Given the description of an element on the screen output the (x, y) to click on. 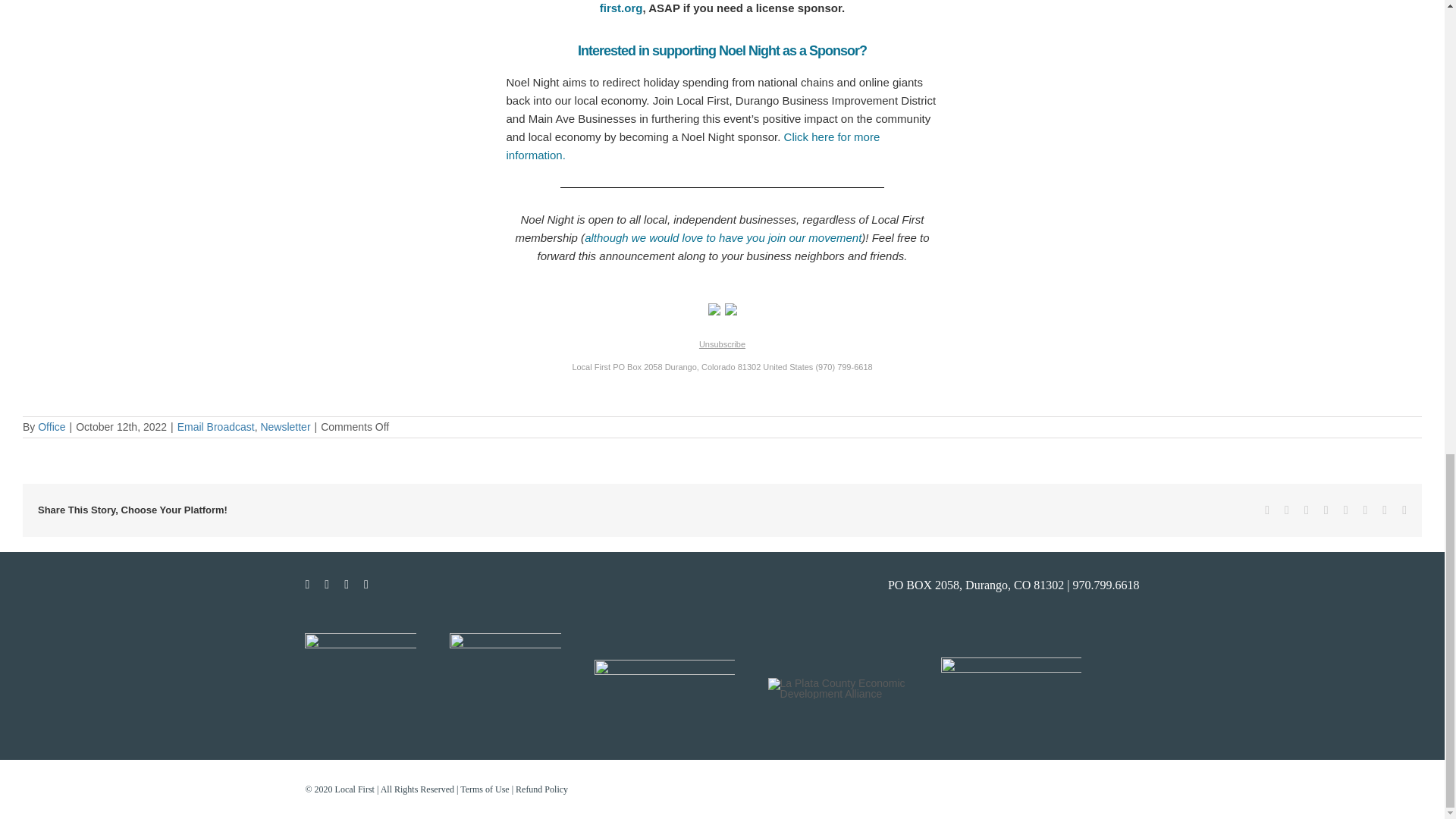
Tumblr (1345, 510)
Email (1404, 510)
X (1286, 510)
Pinterest (1364, 510)
Vk (1384, 510)
LinkedIn (1325, 510)
Reddit (1306, 510)
Posts by Office (51, 426)
Facebook (1267, 510)
